Given the description of an element on the screen output the (x, y) to click on. 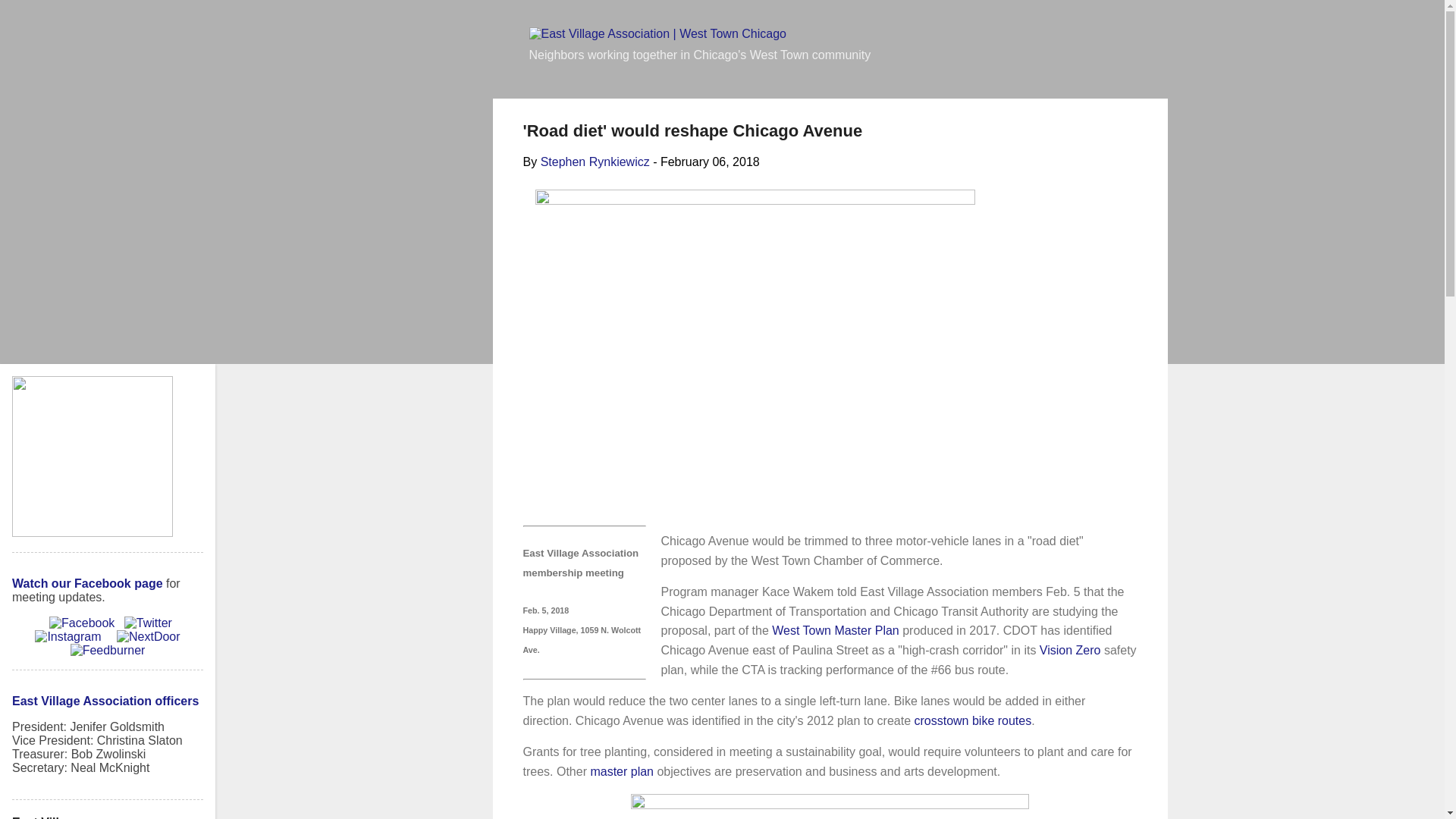
February 06, 2018 (710, 161)
Search (32, 18)
author profile (594, 161)
West Town Master Plan (834, 630)
permanent link (710, 161)
master plan (621, 771)
Stephen Rynkiewicz (594, 161)
Vision Zero (1069, 649)
crosstown bike routes (972, 720)
